Given the description of an element on the screen output the (x, y) to click on. 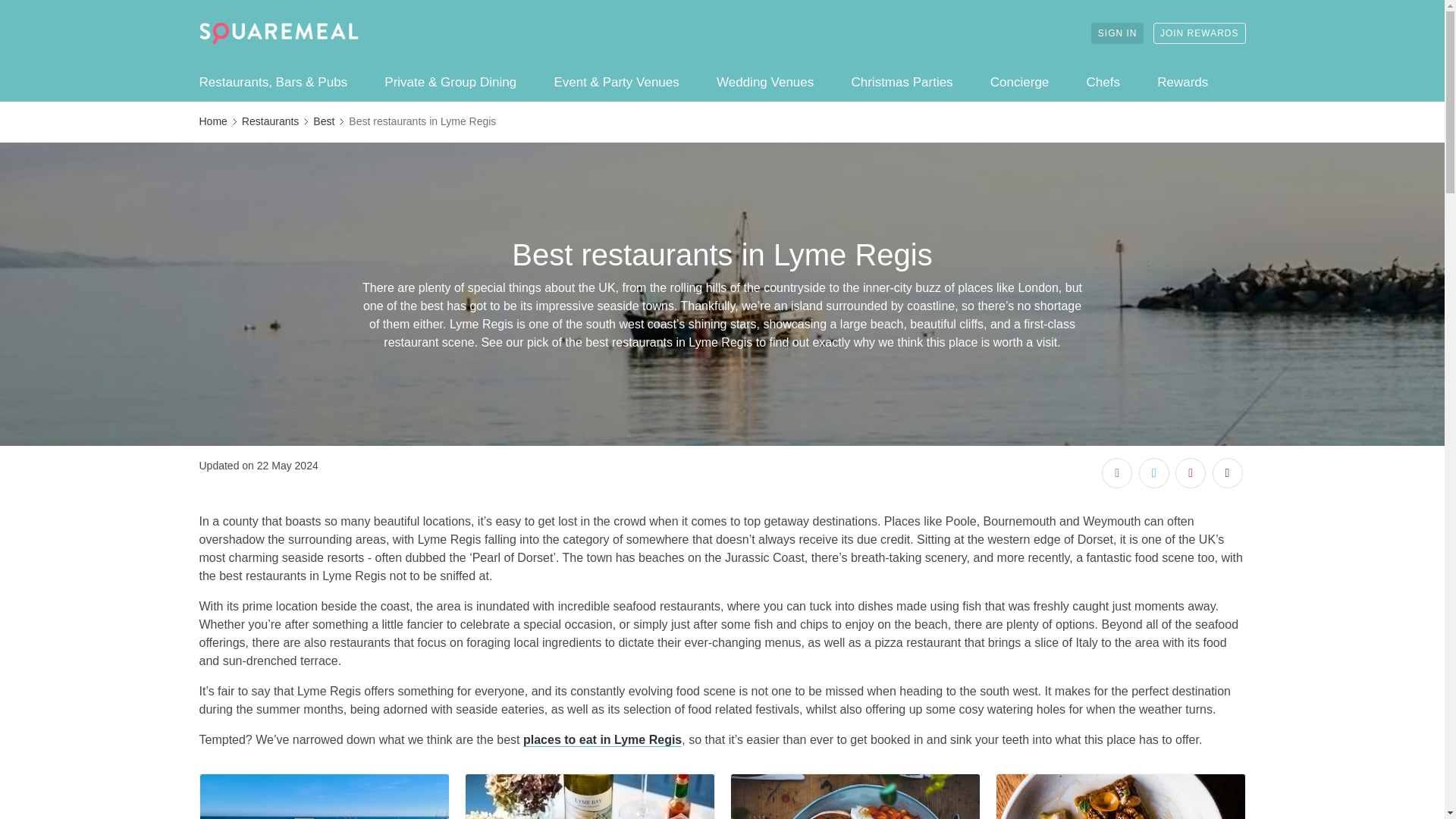
SIGN IN (1117, 33)
JOIN REWARDS (1199, 33)
SquareMeal (278, 33)
